Given the description of an element on the screen output the (x, y) to click on. 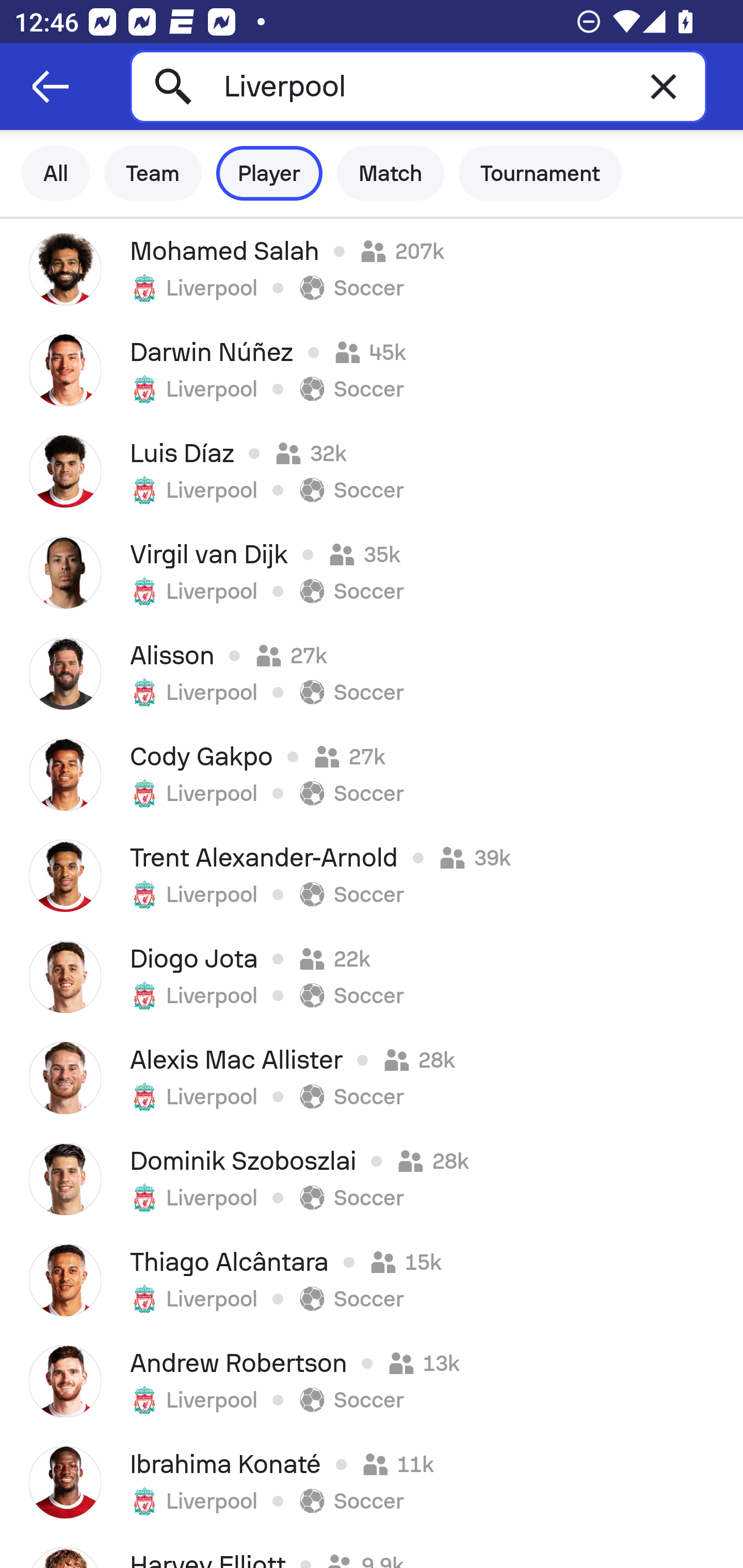
Navigate up (50, 86)
Liverpool (418, 86)
Clear text (663, 86)
All (55, 172)
Team (152, 172)
Player (268, 172)
Match (390, 172)
Tournament (540, 172)
Mohamed Salah 207k Liverpool Soccer (371, 268)
Darwin Núñez 45k Liverpool Soccer (371, 369)
Luis Díaz 32k Liverpool Soccer (371, 471)
Virgil van Dijk 35k Liverpool Soccer (371, 572)
Alisson 27k Liverpool Soccer (371, 673)
Cody Gakpo 27k Liverpool Soccer (371, 774)
Trent Alexander-Arnold 39k Liverpool Soccer (371, 875)
Diogo Jota 22k Liverpool Soccer (371, 976)
Alexis Mac Allister 28k Liverpool Soccer (371, 1077)
Dominik Szoboszlai 28k Liverpool Soccer (371, 1178)
Thiago Alcântara 15k Liverpool Soccer (371, 1280)
Andrew Robertson 13k Liverpool Soccer (371, 1381)
Ibrahima Konaté 11k Liverpool Soccer (371, 1482)
